Given the description of an element on the screen output the (x, y) to click on. 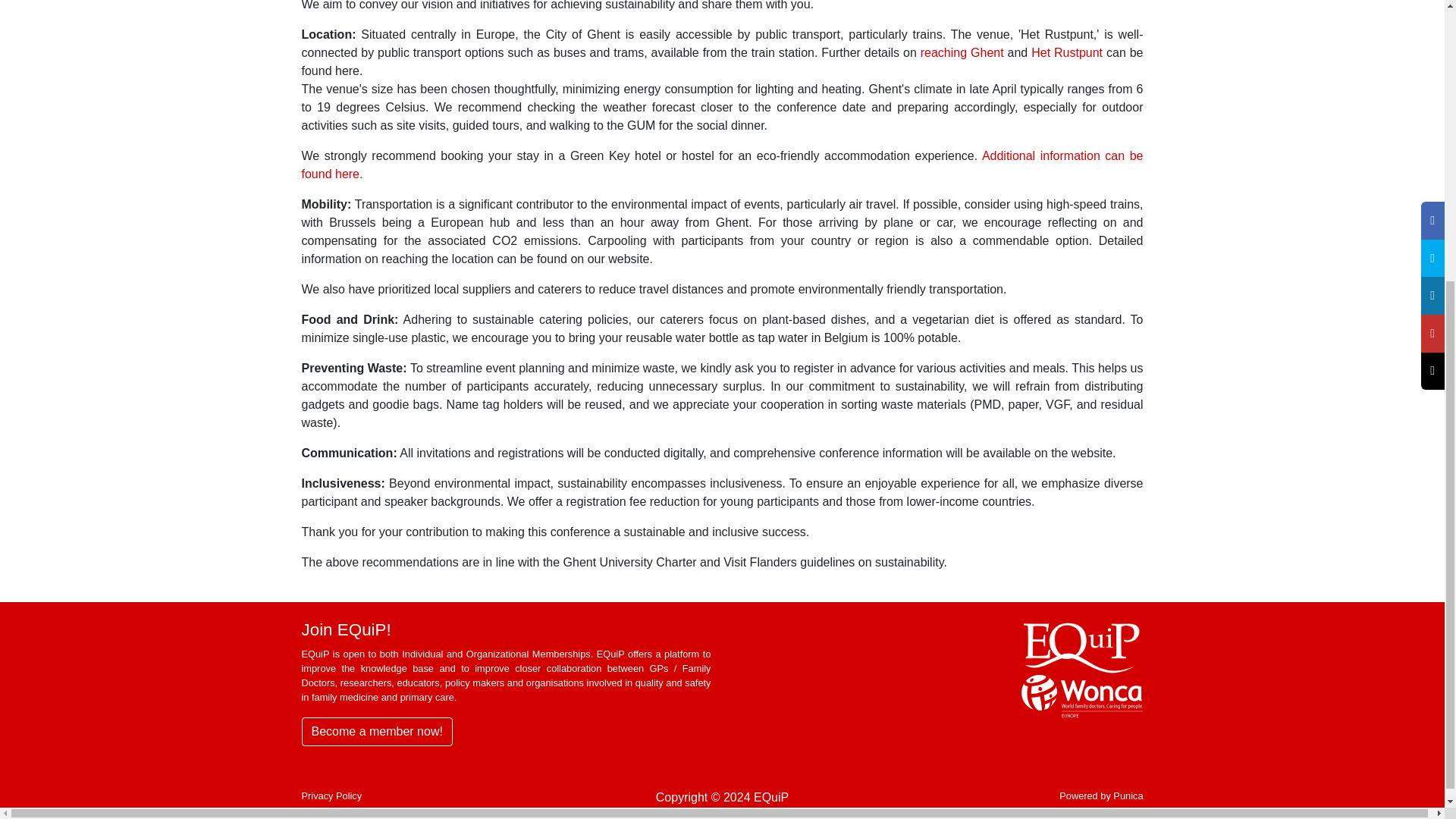
Visit WONCA Europe Website (1082, 696)
Visit EQuiP Website (1082, 645)
Privacy Policy (331, 795)
Additional information can be found here. (721, 164)
Het Rustpunt (1066, 51)
Powered by Punica (1100, 795)
reaching Ghent (962, 51)
Become a member now! (376, 731)
